Given the description of an element on the screen output the (x, y) to click on. 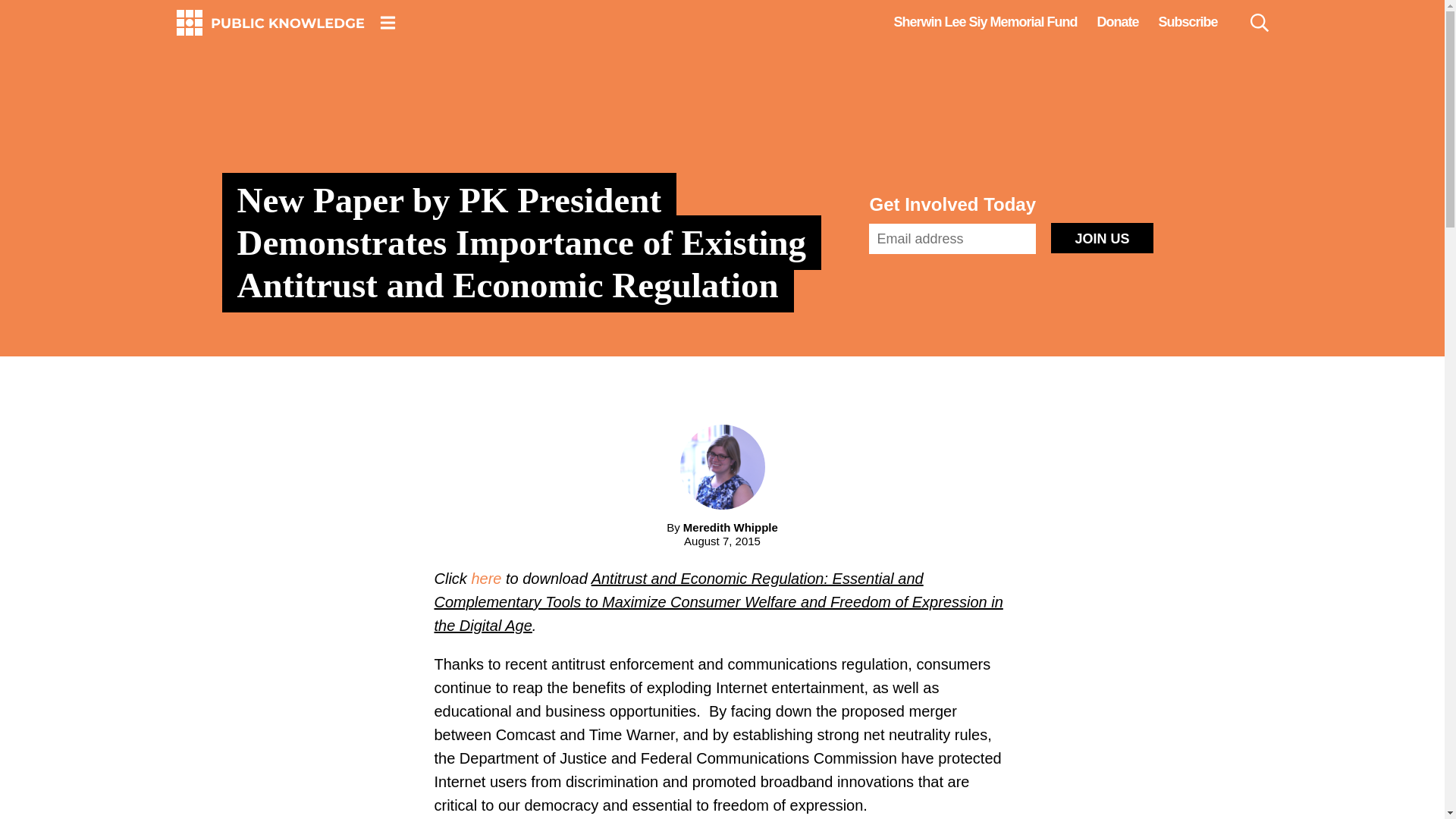
Subscribe (1187, 22)
Join Us (1102, 237)
Sherwin Lee Siy Memorial Fund (984, 22)
Donate (1117, 22)
Public Knowledge (270, 22)
Sherwin Lee Siy Memorial Fund (984, 22)
Donate (1117, 22)
here (485, 578)
Subscribe (1187, 22)
Join Us (1102, 237)
